Given the description of an element on the screen output the (x, y) to click on. 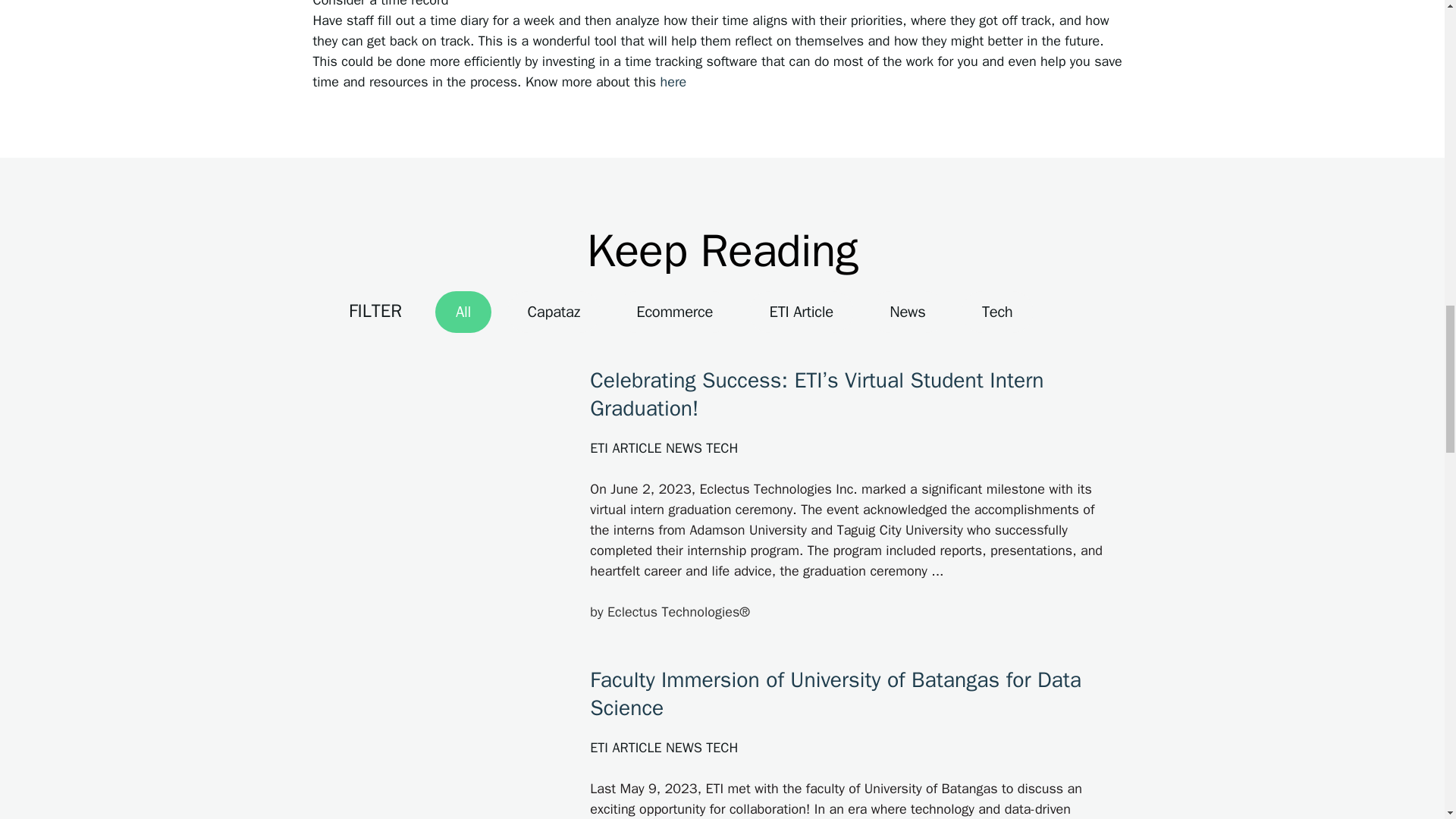
Capataz (672, 81)
here (672, 81)
Faculty Immersion of University of Batangas for Data Science (835, 693)
